Given the description of an element on the screen output the (x, y) to click on. 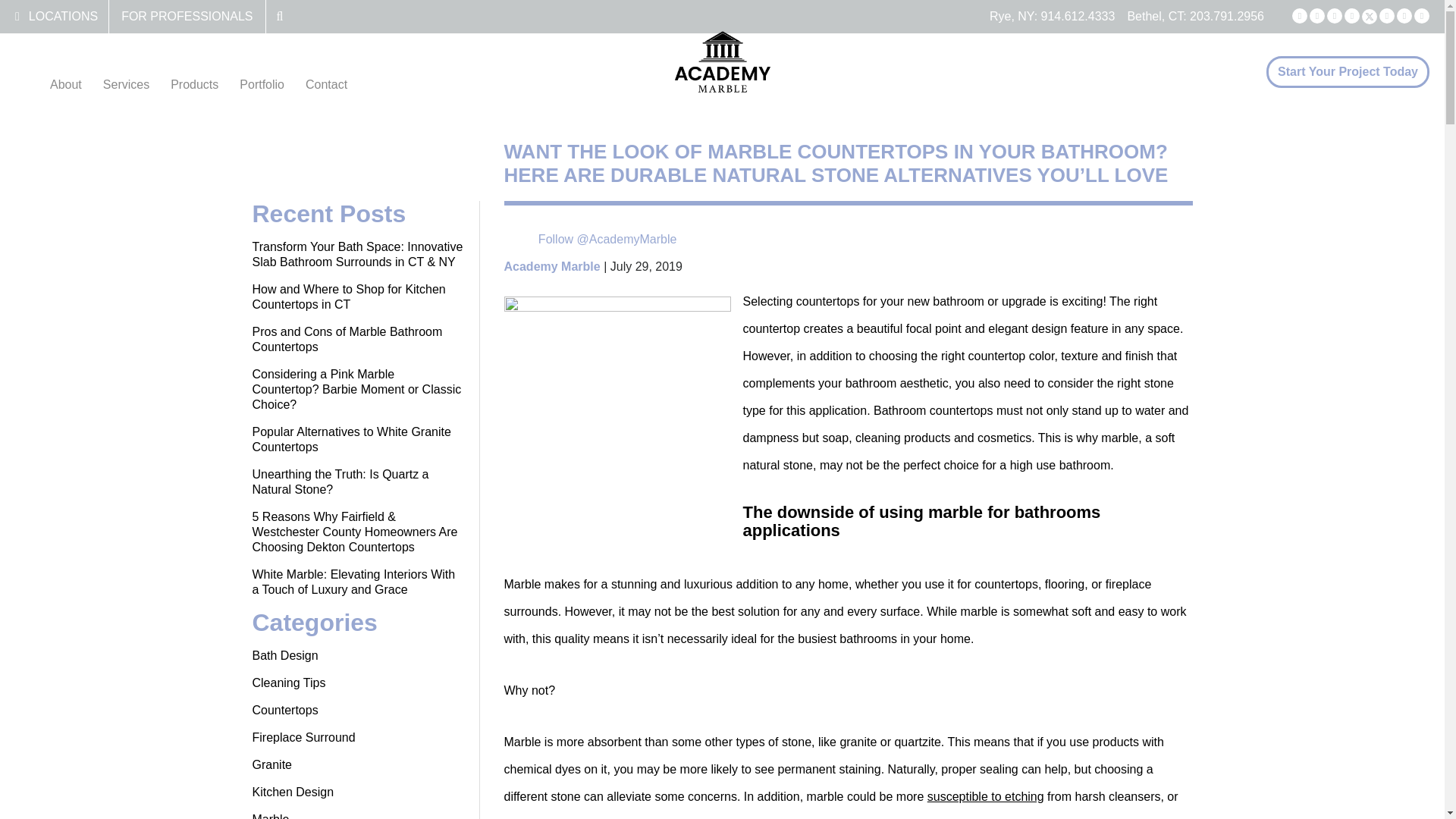
LOCATIONS (63, 15)
914.612.4333 (1078, 15)
203.791.2956 (1226, 15)
FOR PROFESSIONALS (185, 15)
